Given the description of an element on the screen output the (x, y) to click on. 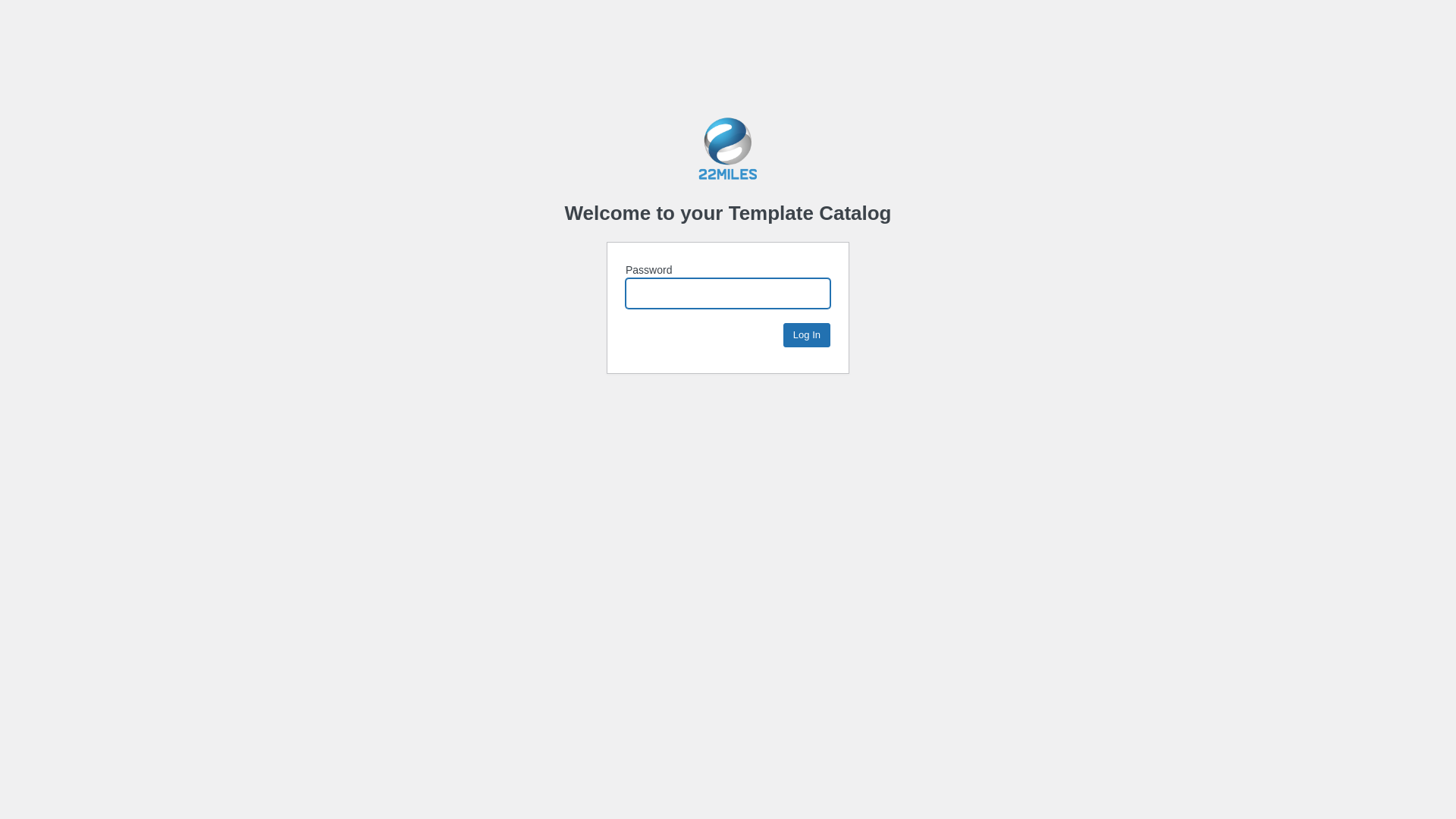
Log In Element type: text (806, 335)
22Miles Catalog Element type: text (727, 148)
